Given the description of an element on the screen output the (x, y) to click on. 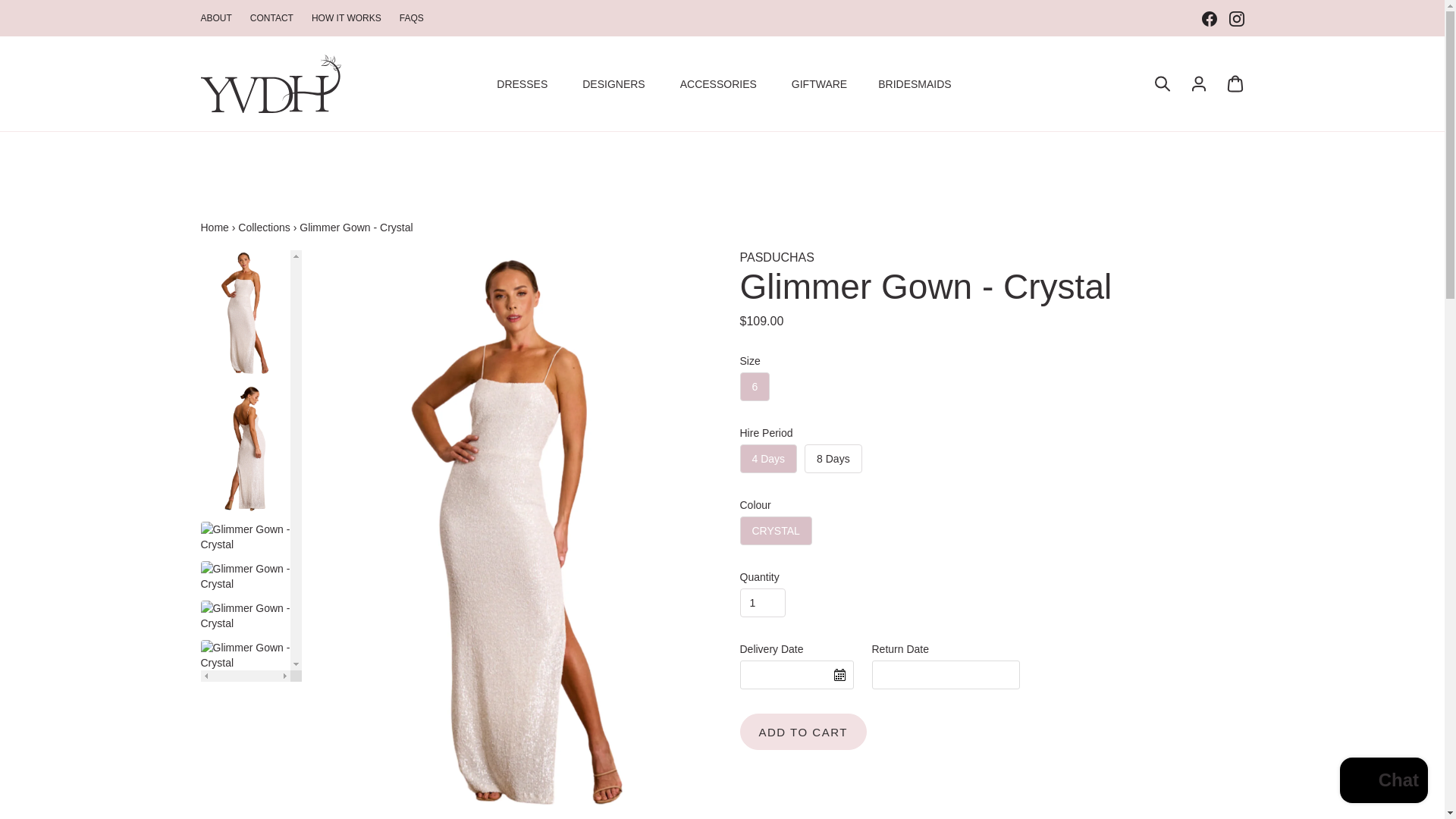
Home (214, 227)
ABOUT (215, 18)
Add to Cart (802, 731)
HOW IT WORKS (346, 18)
Shopify online store chat (1383, 781)
CONTACT (272, 18)
FAQS (410, 18)
1 (762, 602)
